Given the description of an element on the screen output the (x, y) to click on. 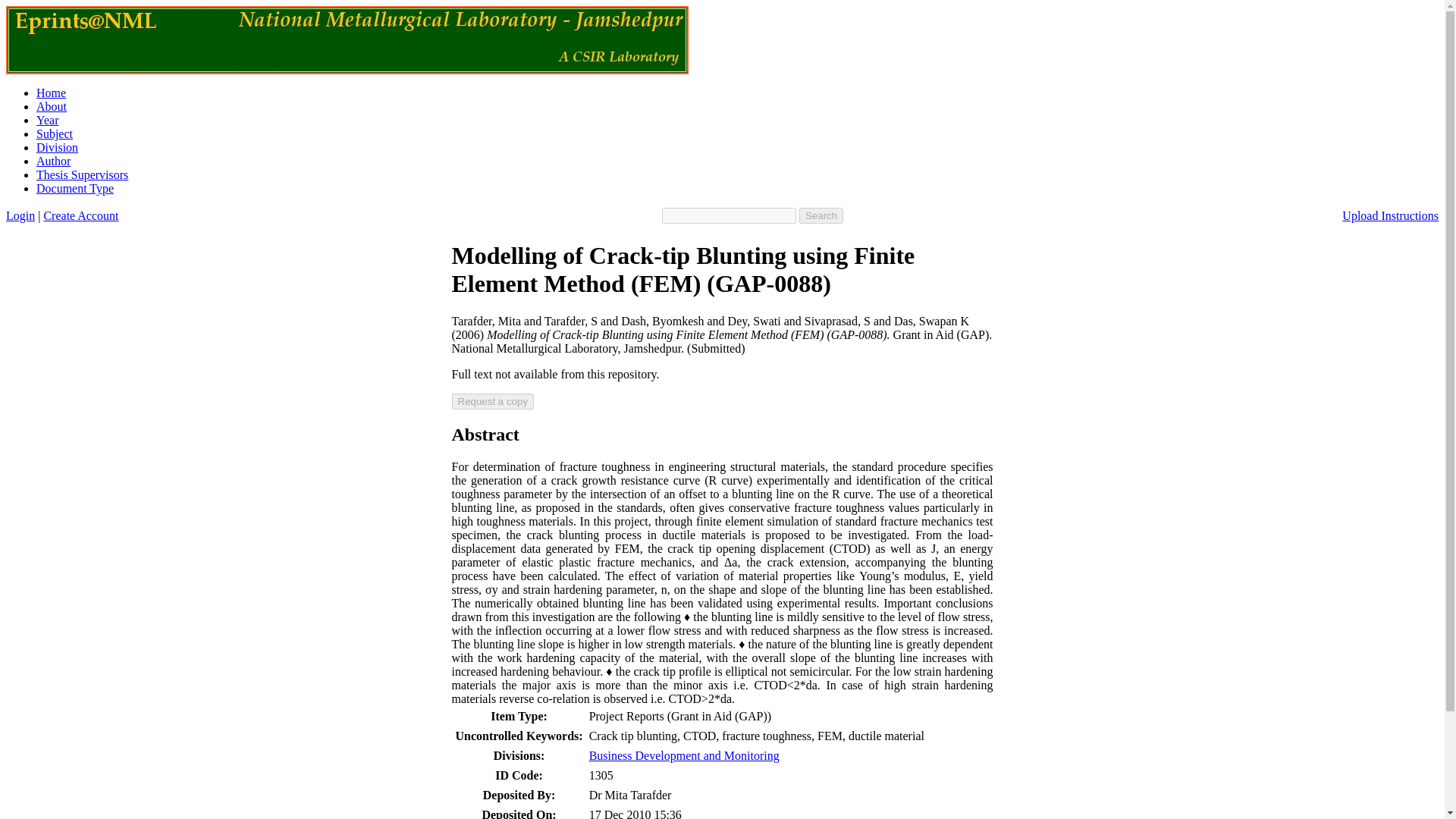
Division (57, 146)
About (51, 106)
Search (821, 215)
Year (47, 119)
Request a copy (492, 401)
Request a copy (492, 401)
Business Development and Monitoring (683, 755)
Thesis Supervisors (82, 174)
Subject (54, 133)
Home (50, 92)
Document Type (74, 187)
Search (821, 215)
Author (52, 160)
Login (19, 215)
Create Account (80, 215)
